Given the description of an element on the screen output the (x, y) to click on. 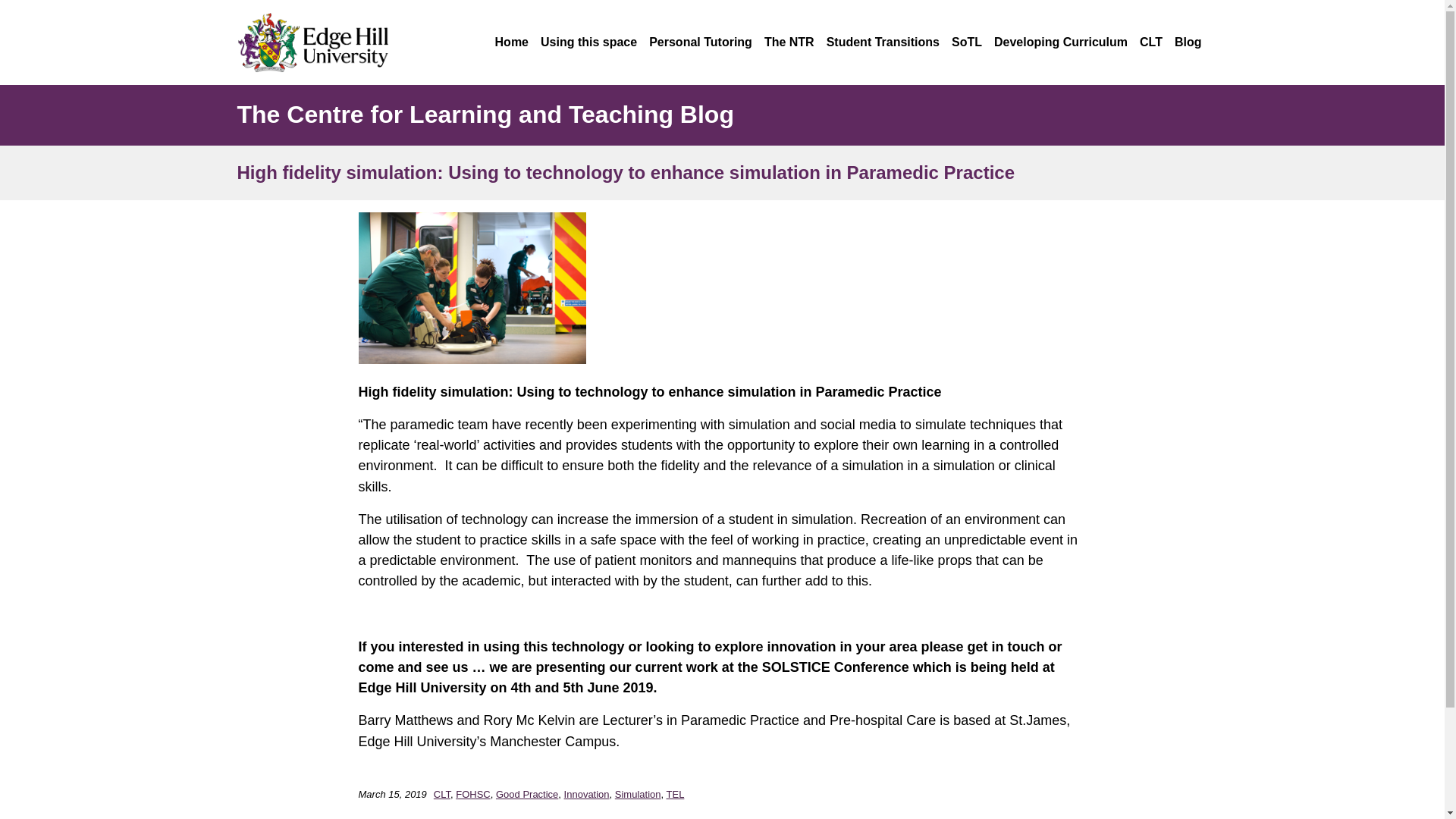
FOHSC (472, 794)
Developing Curriculum (1060, 42)
Good Practice (526, 794)
Blog (1188, 42)
Simulation (637, 794)
SoTL (966, 42)
Student Transitions (883, 42)
CLT (441, 794)
TEL (675, 794)
The NTR (788, 42)
